Given the description of an element on the screen output the (x, y) to click on. 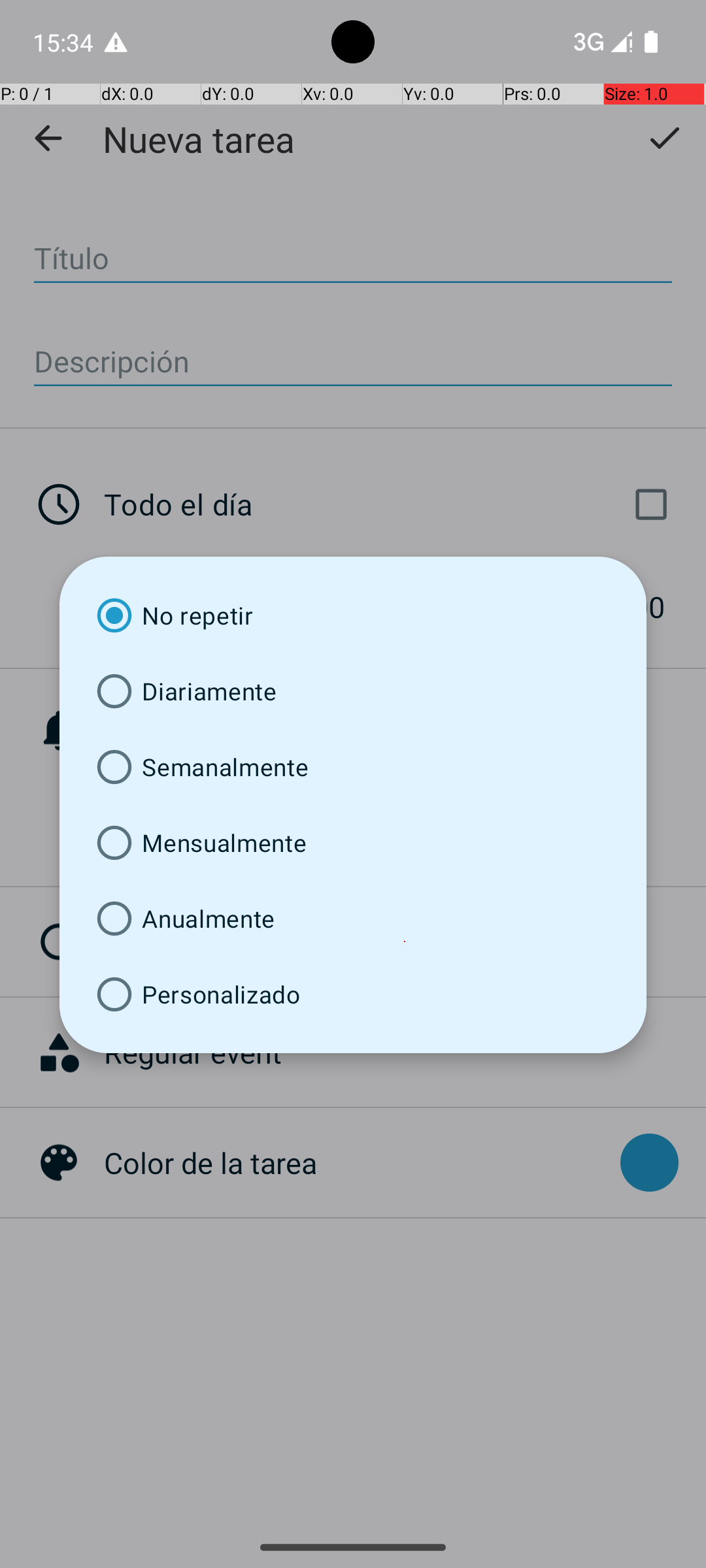
No repetir Element type: android.widget.RadioButton (352, 615)
Diariamente Element type: android.widget.RadioButton (352, 691)
Semanalmente Element type: android.widget.RadioButton (352, 766)
Mensualmente Element type: android.widget.RadioButton (352, 842)
Anualmente Element type: android.widget.RadioButton (352, 918)
Personalizado Element type: android.widget.RadioButton (352, 994)
